Given the description of an element on the screen output the (x, y) to click on. 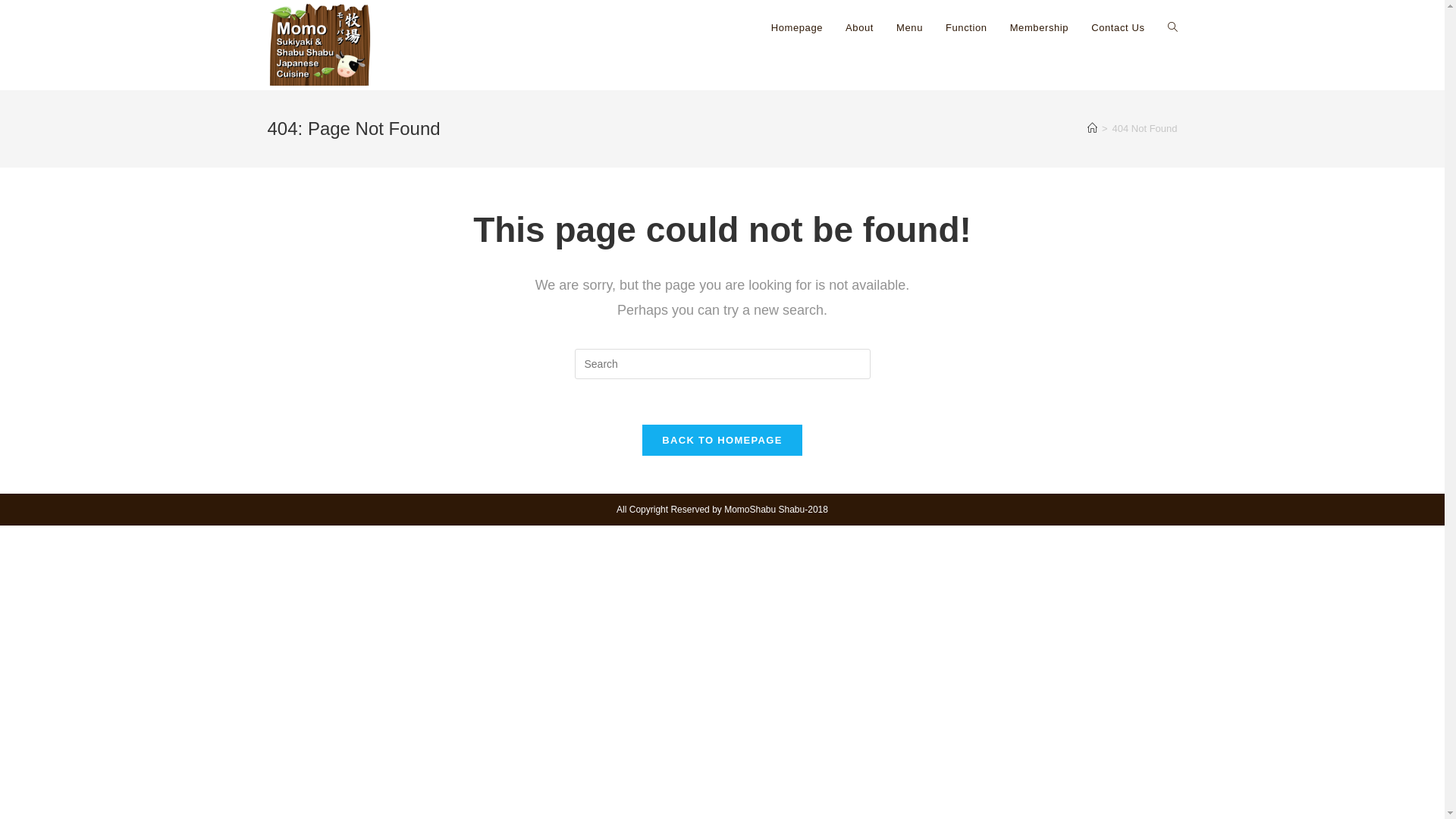
Function Element type: text (966, 28)
BACK TO HOMEPAGE Element type: text (721, 439)
Contact Us Element type: text (1117, 28)
Menu Element type: text (909, 28)
Membership Element type: text (1039, 28)
About Element type: text (859, 28)
Homepage Element type: text (796, 28)
